Given the description of an element on the screen output the (x, y) to click on. 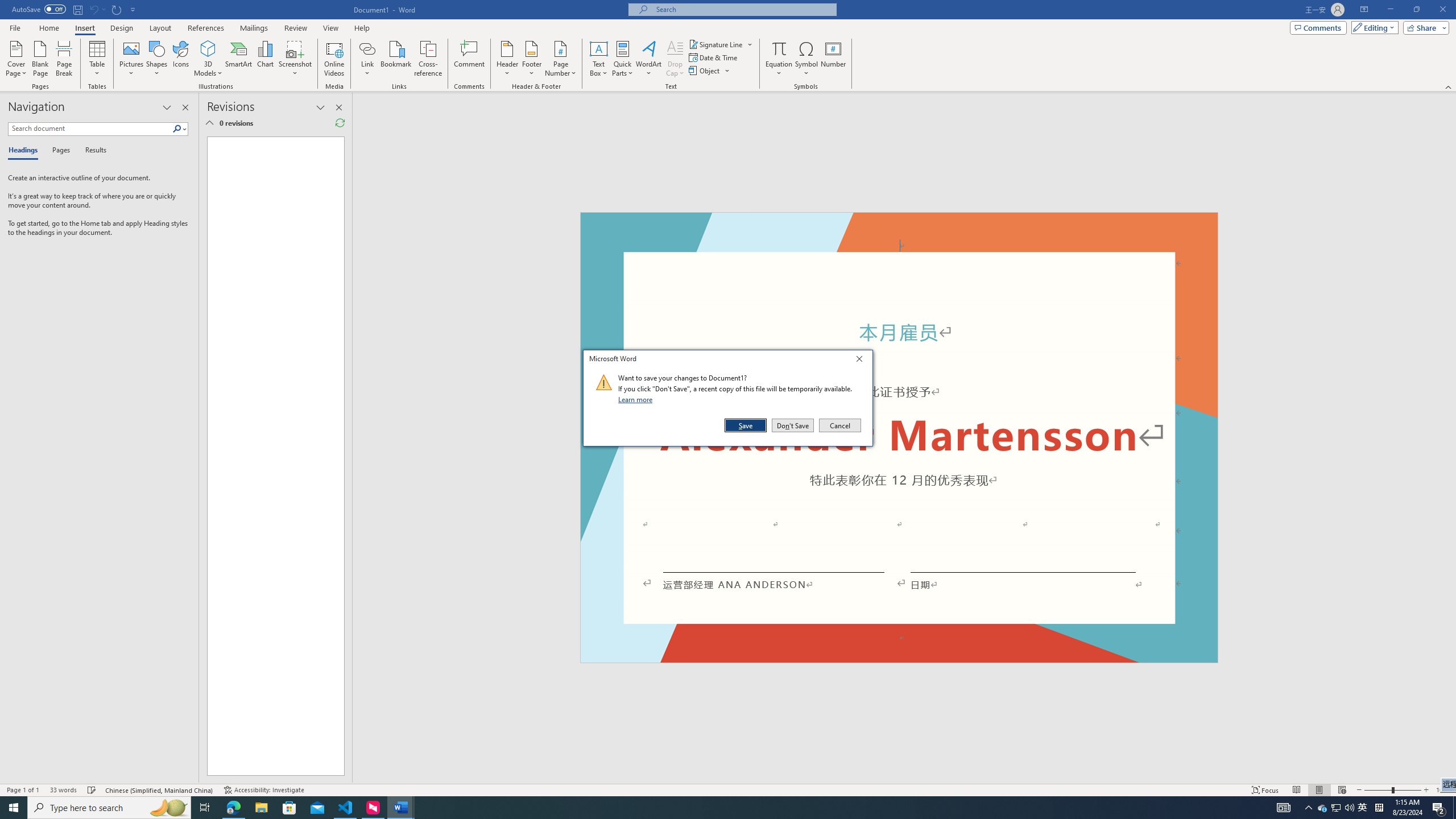
AutoSave (38, 9)
Comments (1318, 27)
Symbol (806, 58)
Link (367, 58)
Show desktop (1454, 807)
Don't Save (792, 425)
Zoom Out (1377, 790)
Class: NetUIImage (603, 382)
AutomationID: 4105 (1283, 807)
Word - 2 running windows (400, 807)
Cancel (839, 425)
File Explorer (261, 807)
